Given the description of an element on the screen output the (x, y) to click on. 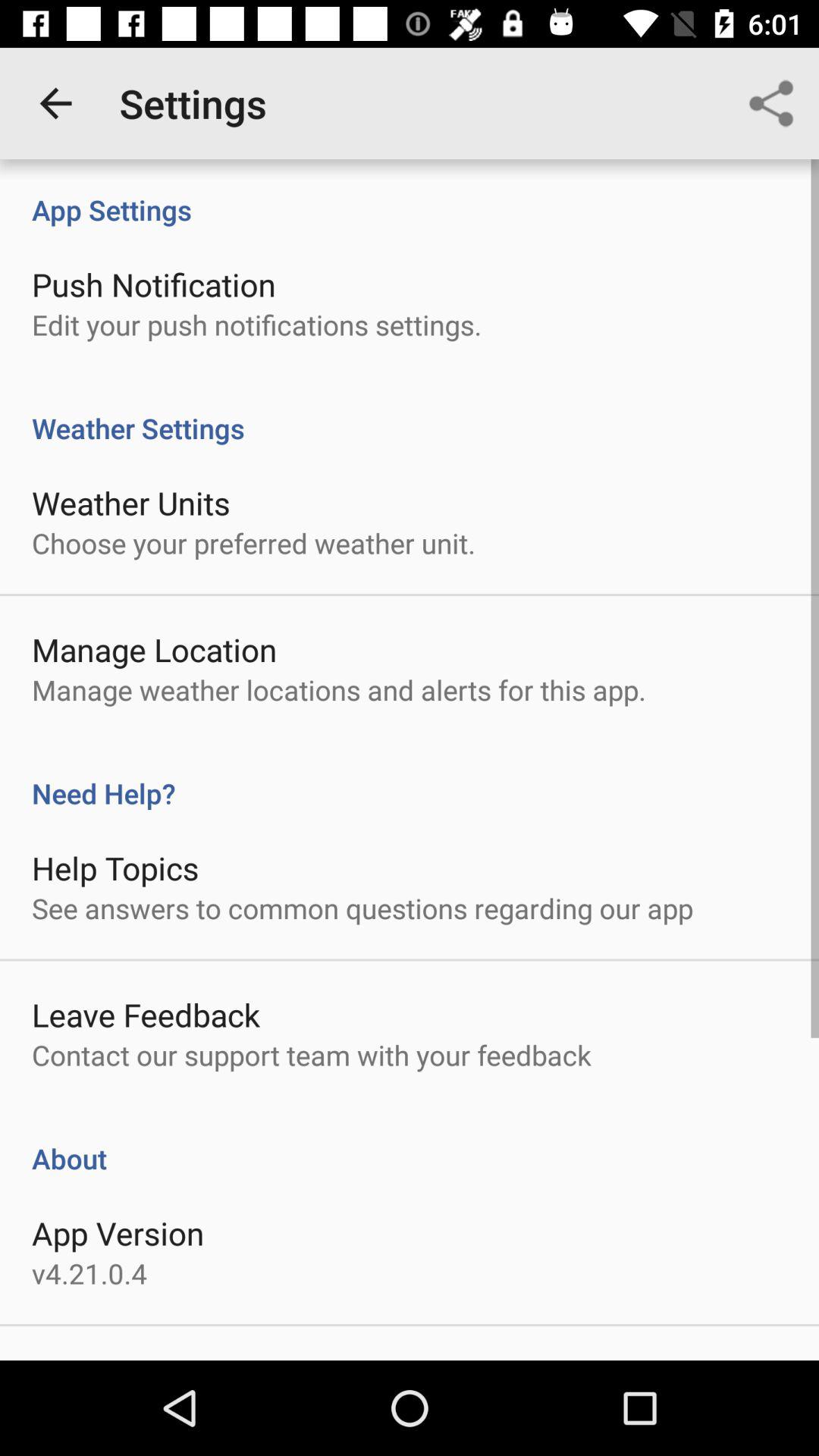
launch the contact our support (311, 1054)
